Given the description of an element on the screen output the (x, y) to click on. 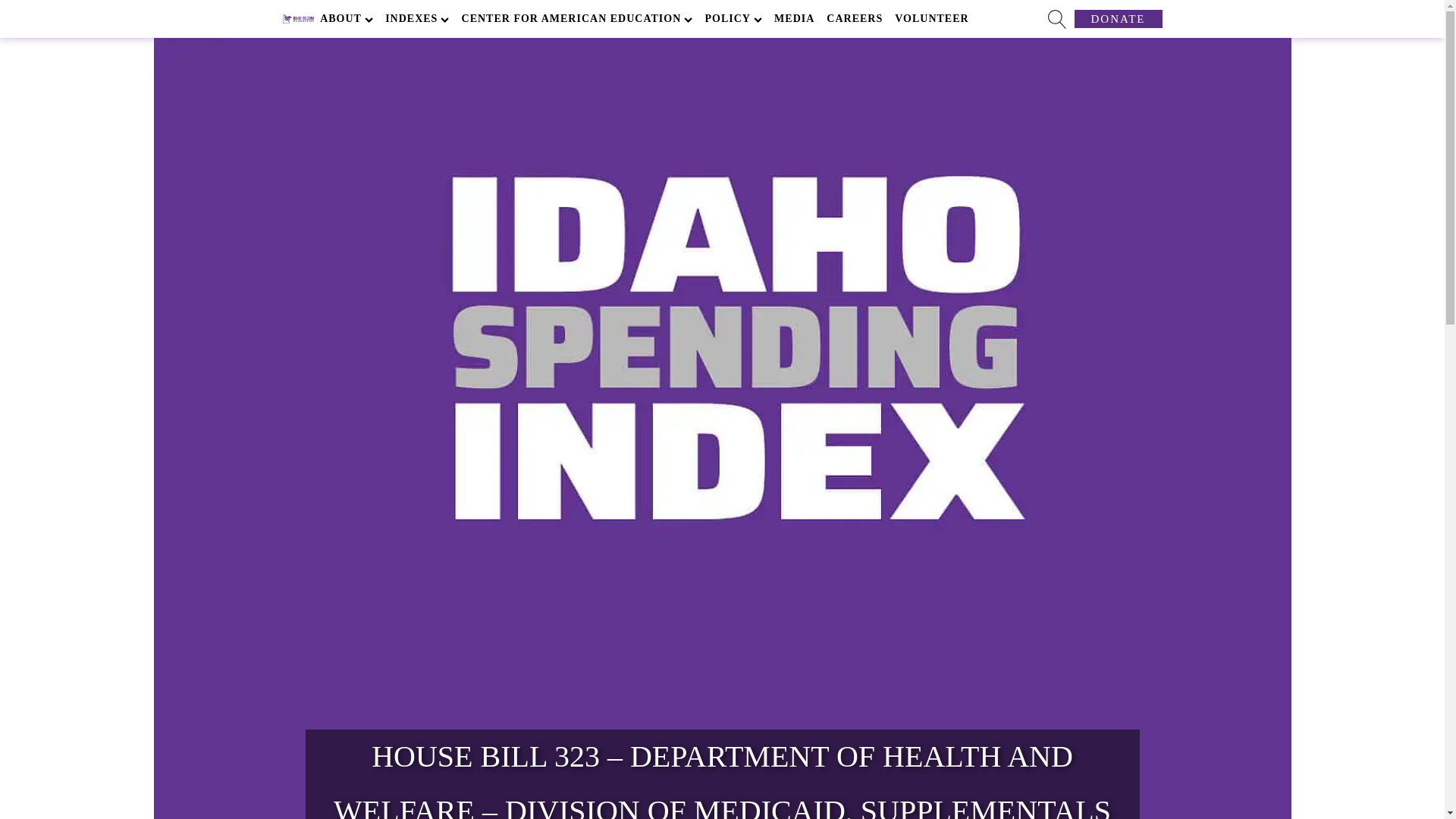
VOLUNTEER (931, 18)
ABOUT (346, 18)
CAREERS (854, 18)
MEDIA (794, 18)
DONATE (1117, 18)
INDEXES (416, 18)
POLICY (733, 18)
CENTER FOR AMERICAN EDUCATION (576, 18)
